Given the description of an element on the screen output the (x, y) to click on. 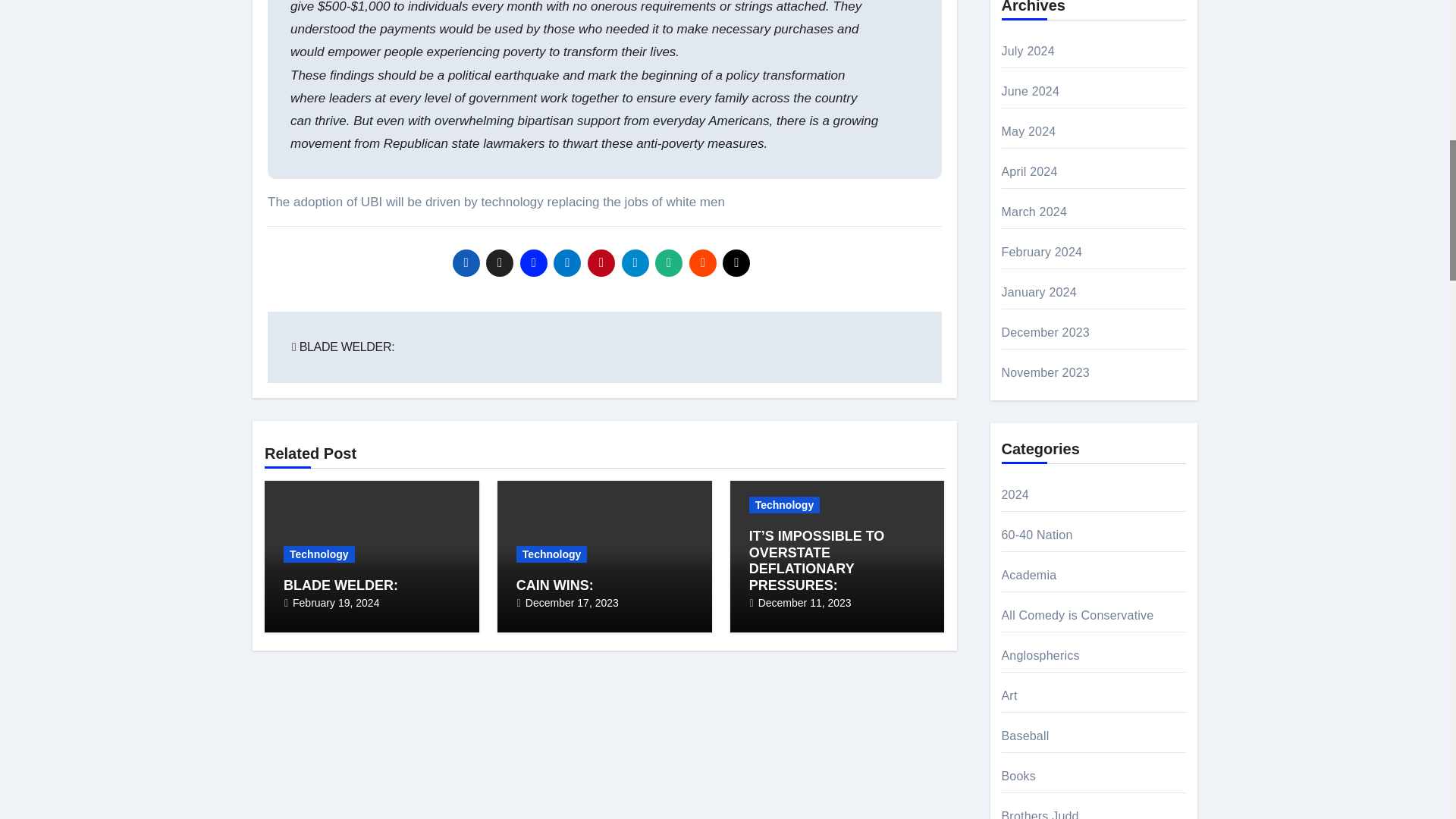
December 17, 2023 (571, 603)
Technology (785, 504)
February 19, 2024 (335, 603)
BLADE WELDER: (343, 346)
BLADE WELDER: (340, 585)
Technology (319, 554)
CAIN WINS: (555, 585)
Permalink to: BLADE WELDER: (340, 585)
Technology (552, 554)
Permalink to: CAIN WINS: (555, 585)
